Given the description of an element on the screen output the (x, y) to click on. 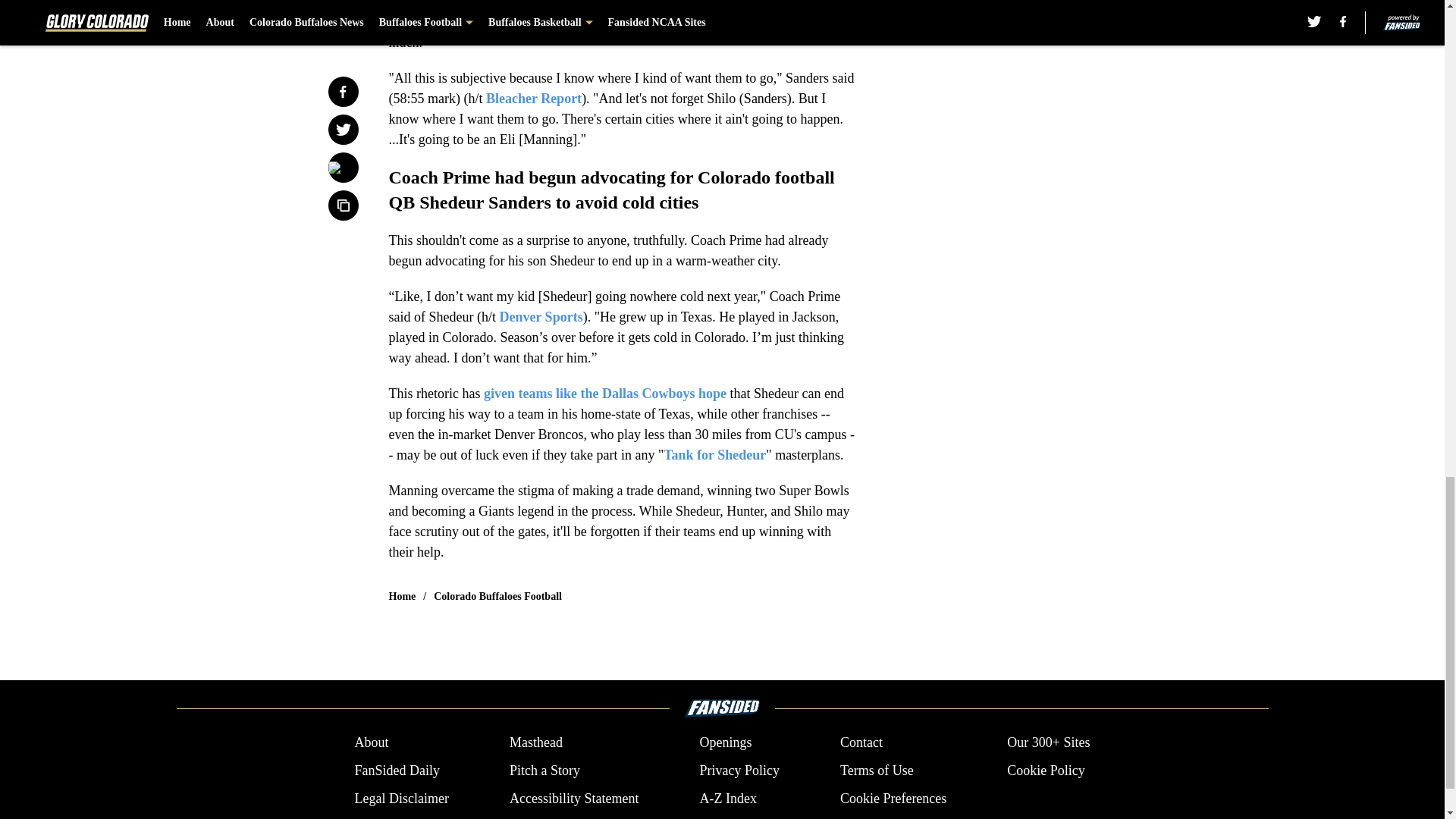
Tank for Shedeur (714, 454)
Denver Sports (540, 316)
Accessibility Statement (574, 798)
Privacy Policy (738, 770)
About (370, 742)
Legal Disclaimer (400, 798)
FanSided Daily (396, 770)
A-Z Index (726, 798)
Colorado Buffaloes Football (497, 596)
Contact (861, 742)
Masthead (535, 742)
Bleacher Report (533, 98)
given teams like the Dallas Cowboys hope (604, 393)
Cookie Preferences (893, 798)
Pitch a Story (544, 770)
